Given the description of an element on the screen output the (x, y) to click on. 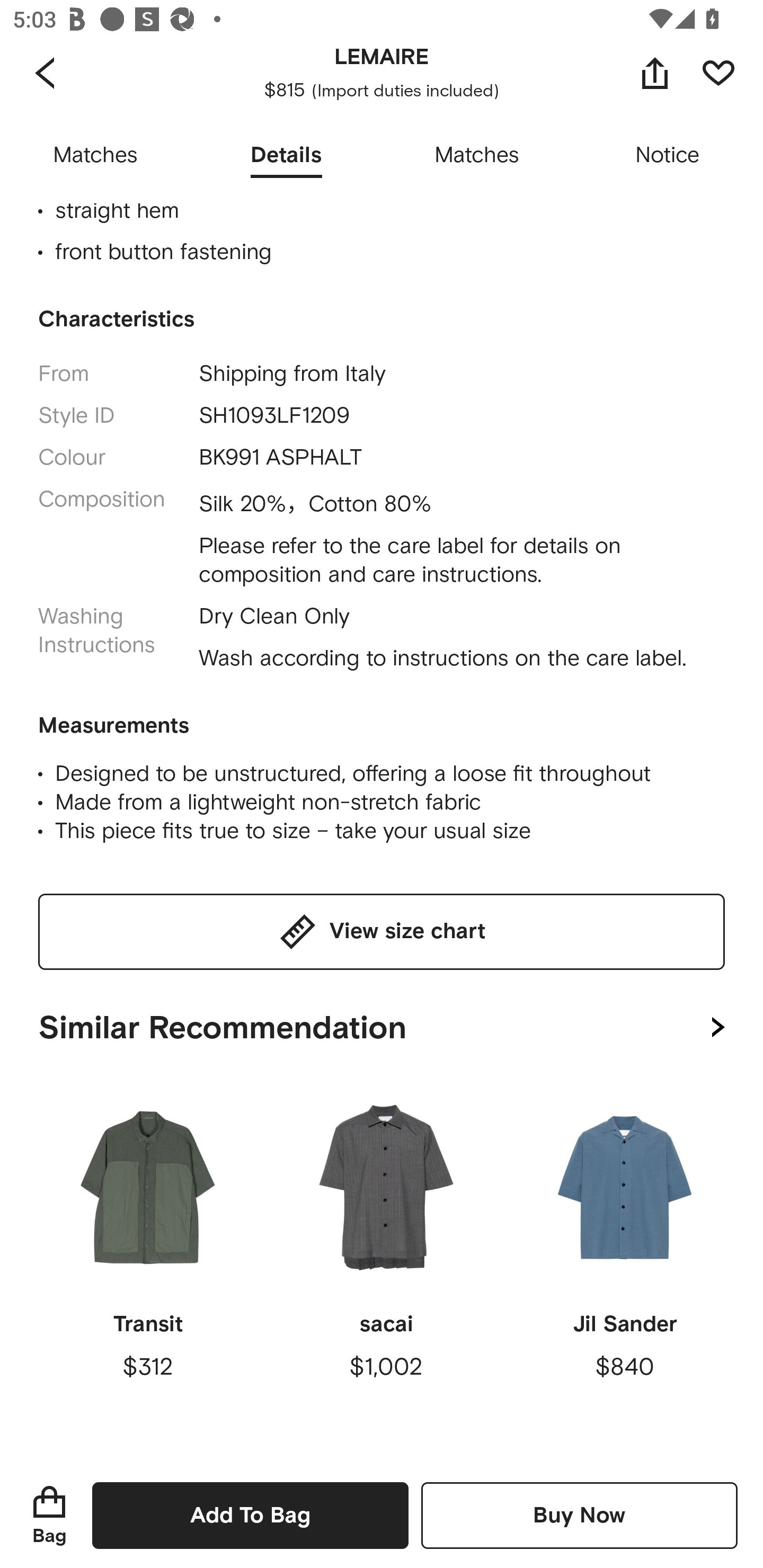
Matches (95, 155)
Matches (476, 155)
Notice (667, 155)
 View size chart (381, 931)
Similar Recommendation (381, 1024)
Transit $312 (147, 1270)
sacai $1,002 (385, 1270)
Jil Sander $840 (624, 1270)
Bag (49, 1515)
Add To Bag (250, 1515)
Buy Now (579, 1515)
